Given the description of an element on the screen output the (x, y) to click on. 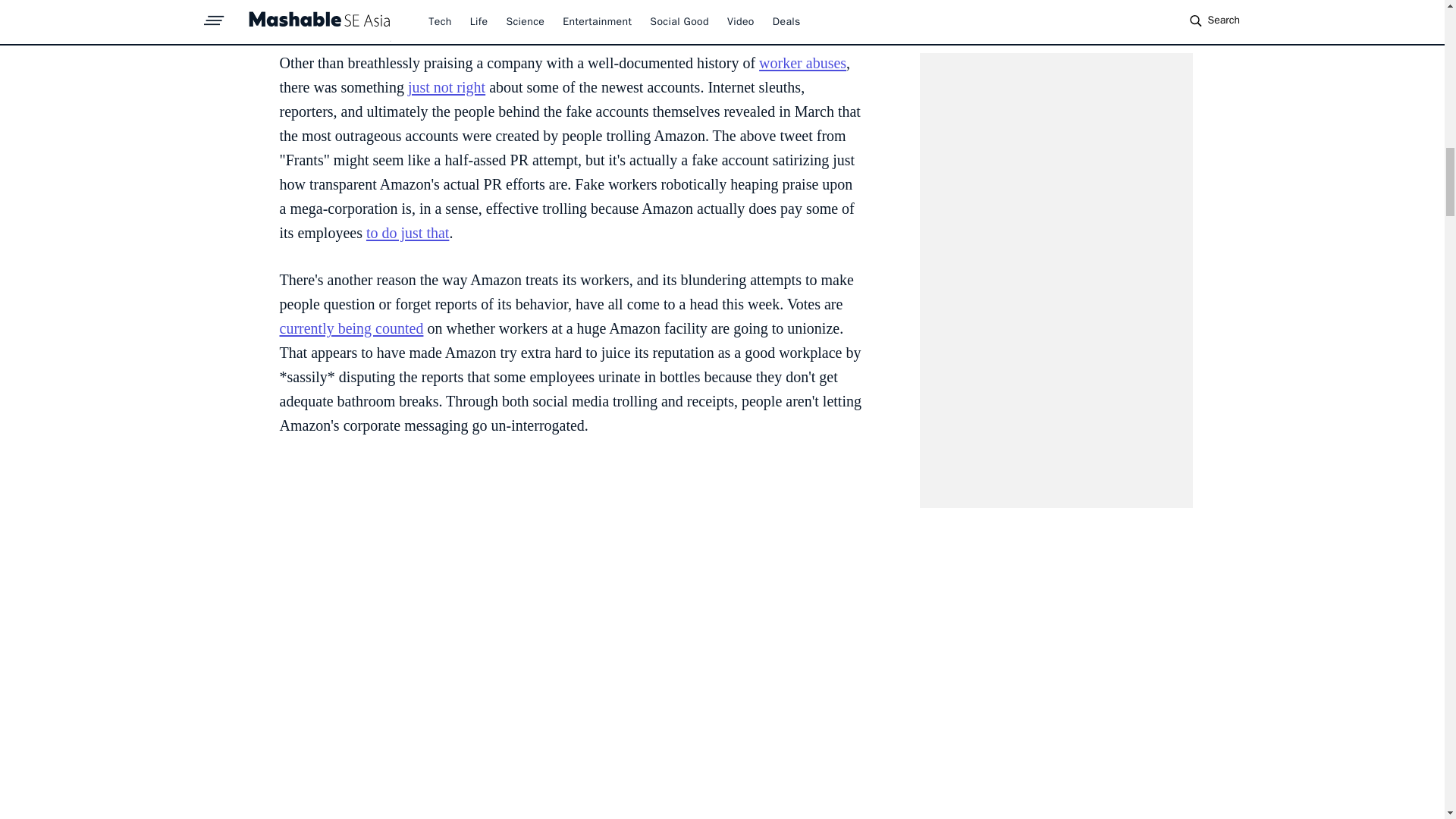
to do just that (407, 232)
Twitter Tweet (570, 18)
just not right (445, 86)
worker abuses (801, 62)
currently being counted (351, 328)
